Given the description of an element on the screen output the (x, y) to click on. 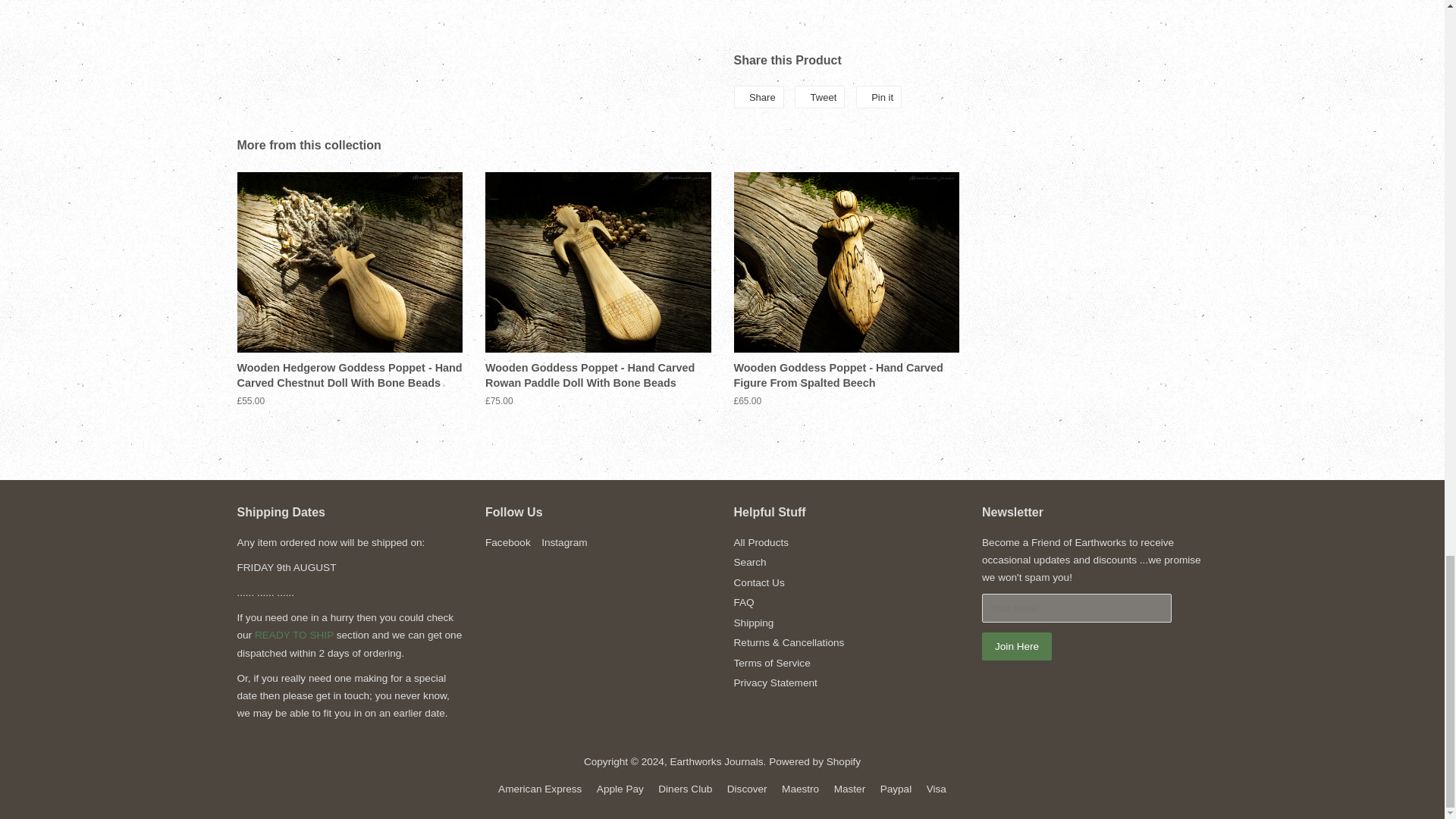
Ready To Ship (293, 634)
Pin on Pinterest (878, 96)
Join Here (1016, 646)
Earthworks Journals on Instagram (563, 542)
Tweet on Twitter (819, 96)
Earthworks Journals on Facebook (507, 542)
Share on Facebook (758, 96)
